Given the description of an element on the screen output the (x, y) to click on. 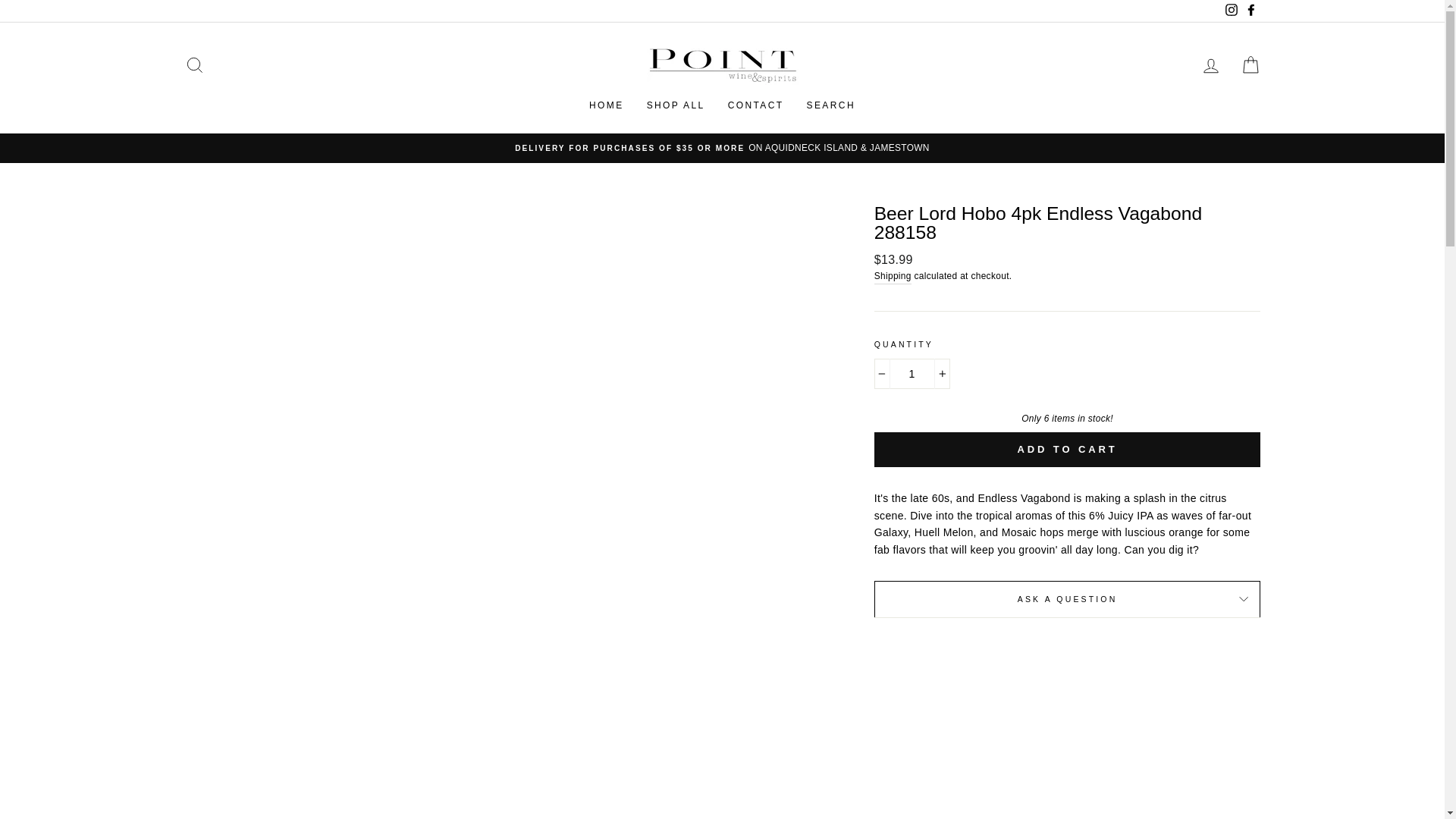
SEARCH (830, 104)
Shipping (893, 276)
CART (1249, 65)
SEARCH (194, 65)
CONTACT (755, 104)
HOME (606, 104)
Instagram (1230, 11)
Facebook (1250, 11)
1 (912, 373)
LOG IN (1210, 65)
